Given the description of an element on the screen output the (x, y) to click on. 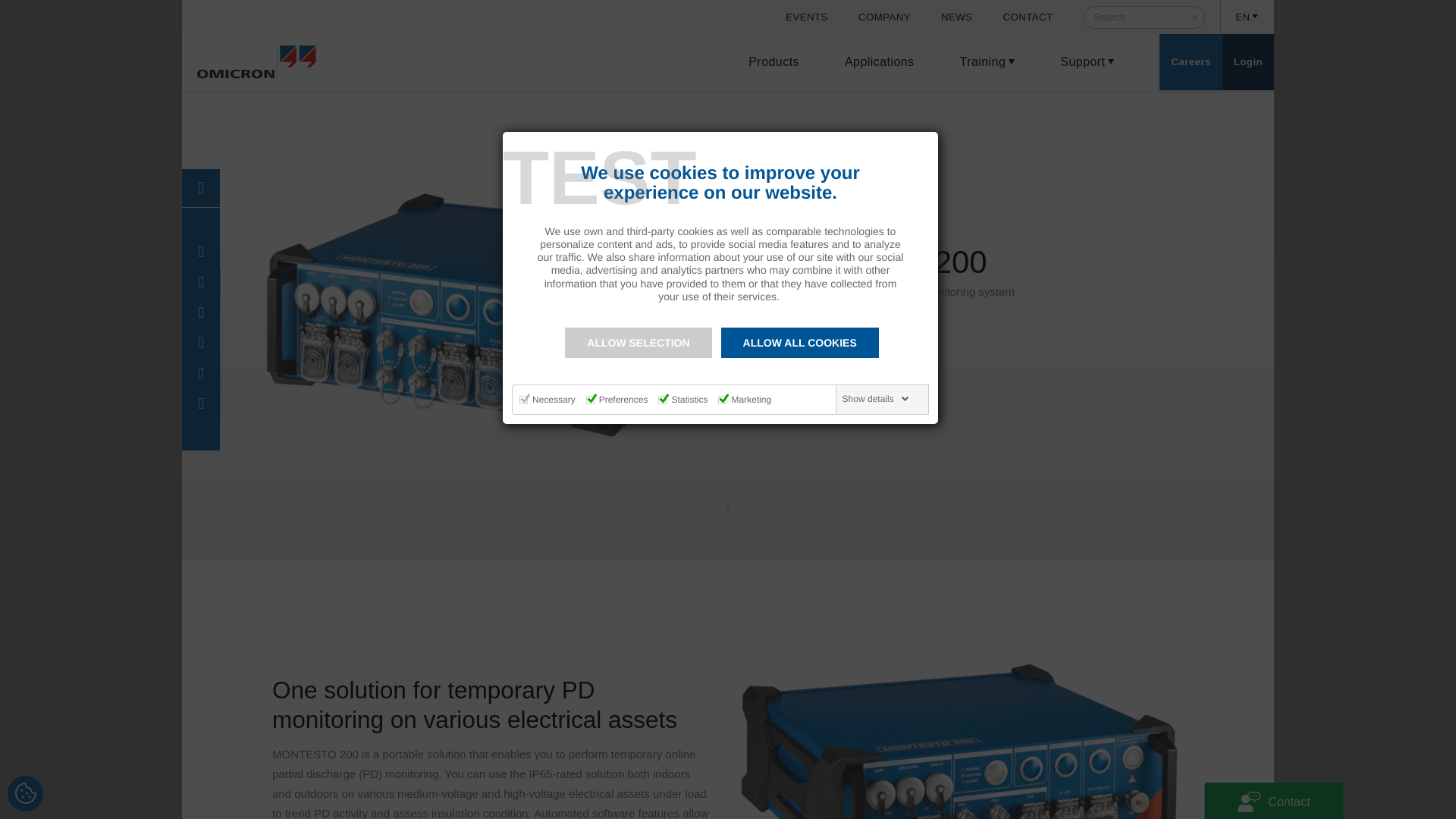
ALLOW ALL COOKIES (799, 342)
Show details (876, 398)
ALLOW SELECTION (637, 342)
